Given the description of an element on the screen output the (x, y) to click on. 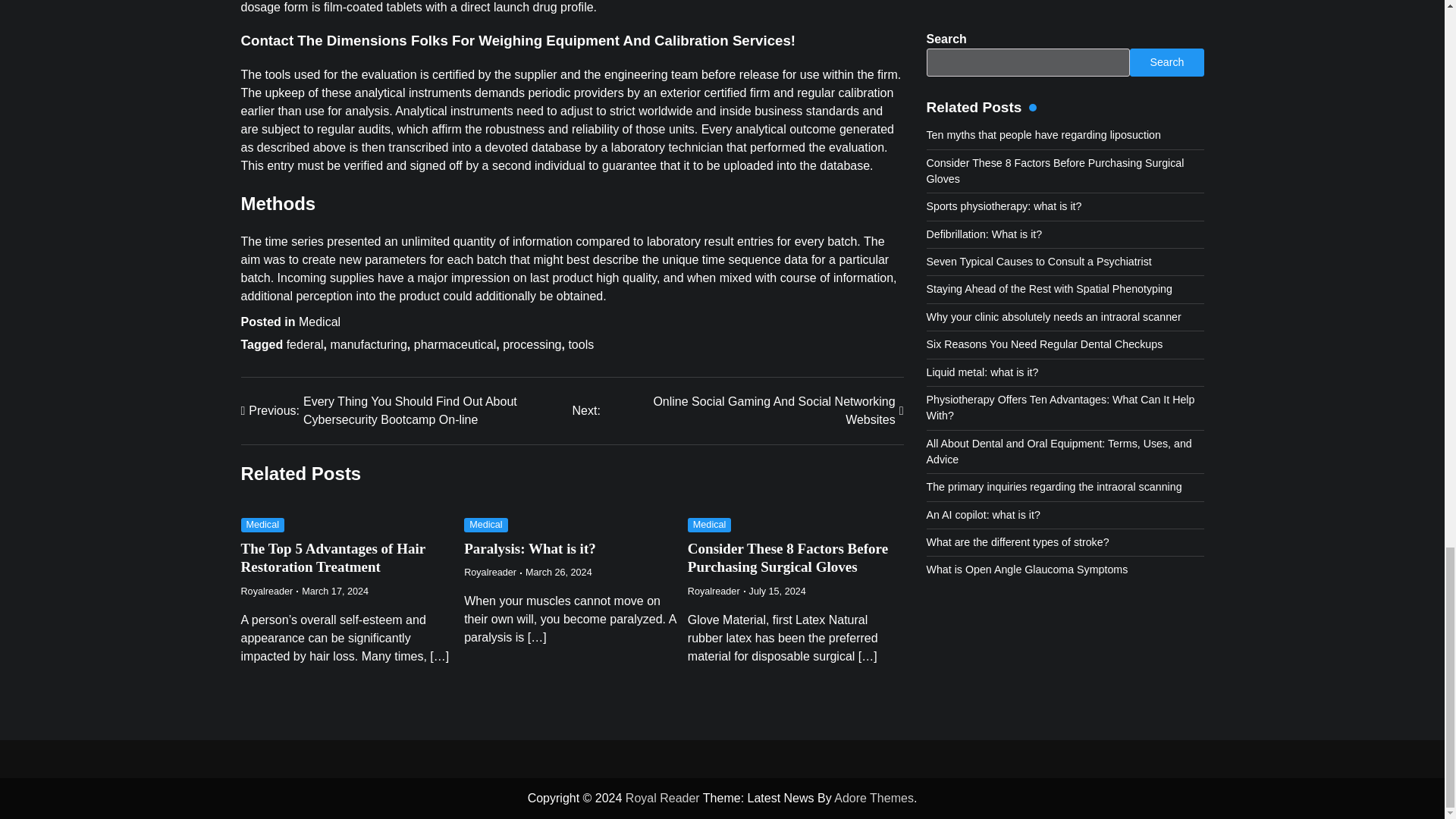
Medical (709, 524)
pharmaceutical (454, 344)
Royalreader (713, 591)
Medical (319, 321)
Medical (486, 524)
Medical (263, 524)
manufacturing (737, 411)
Royalreader (368, 344)
Consider These 8 Factors Before Purchasing Surgical Gloves (490, 572)
processing (787, 557)
Royalreader (531, 344)
tools (267, 591)
Paralysis: What is it? (580, 344)
